Given the description of an element on the screen output the (x, y) to click on. 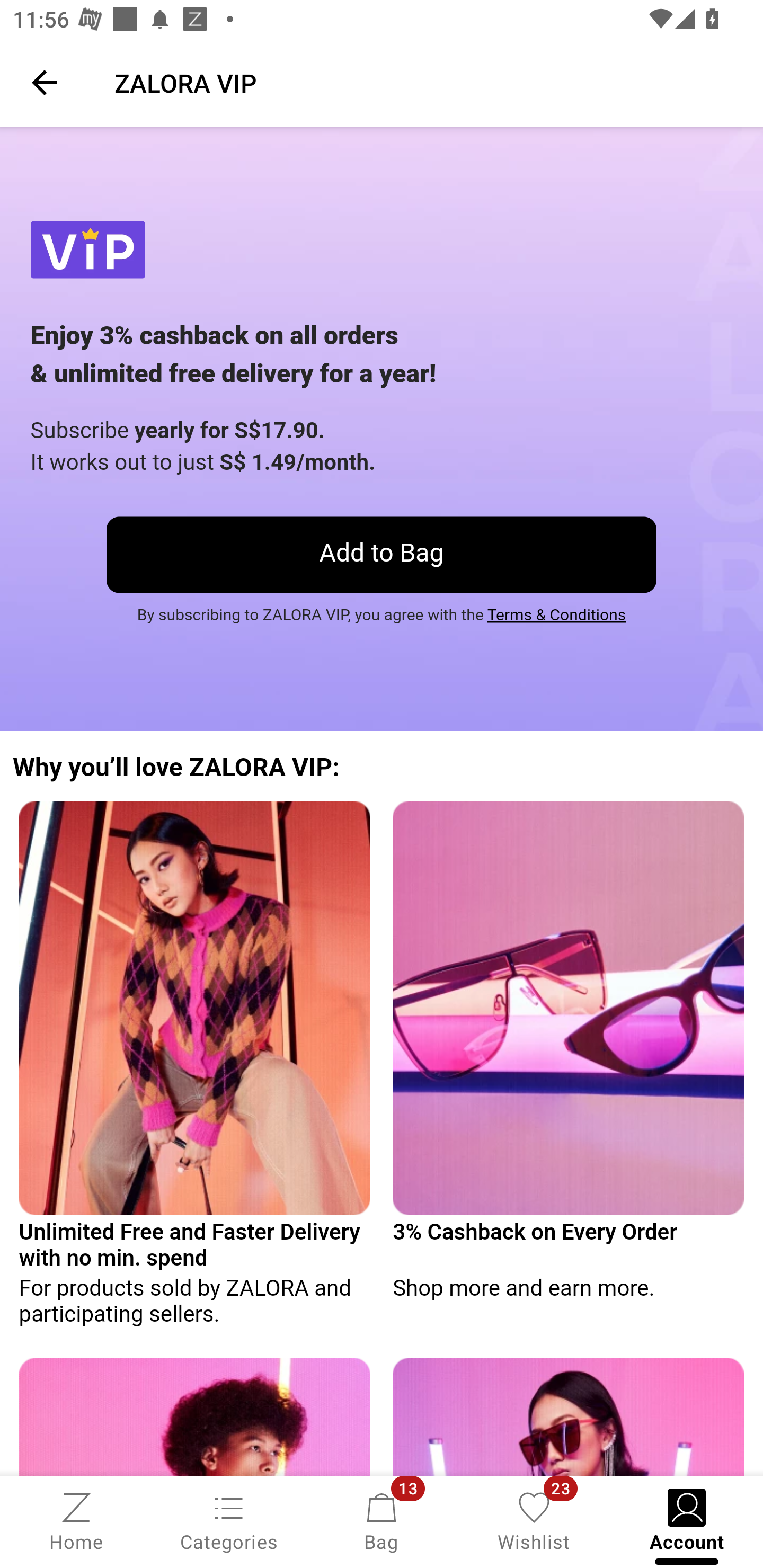
Navigate up (44, 82)
ZALORA VIP (426, 82)
Home (76, 1519)
Categories (228, 1519)
Bag, 13 new notifications Bag (381, 1519)
Wishlist, 23 new notifications Wishlist (533, 1519)
